Given the description of an element on the screen output the (x, y) to click on. 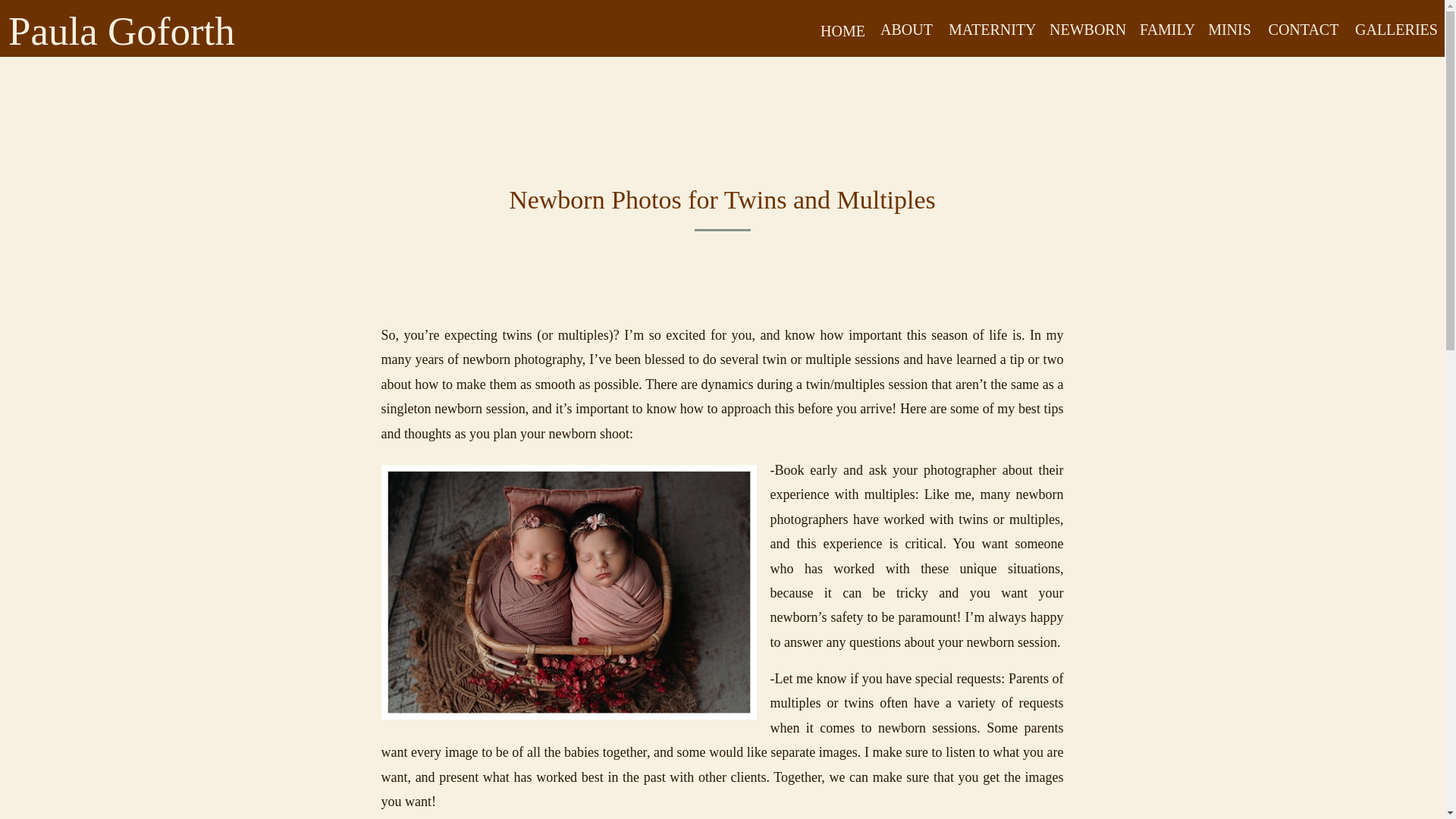
HOME (842, 29)
MATERNITY (991, 27)
BABY PLAN (649, 285)
NEWBORN (798, 285)
CONTACT (1303, 27)
FAMILY (1166, 27)
GALLERIES (1393, 27)
MATERNITY (726, 285)
MINIS (1229, 27)
ABOUT (905, 27)
